Given the description of an element on the screen output the (x, y) to click on. 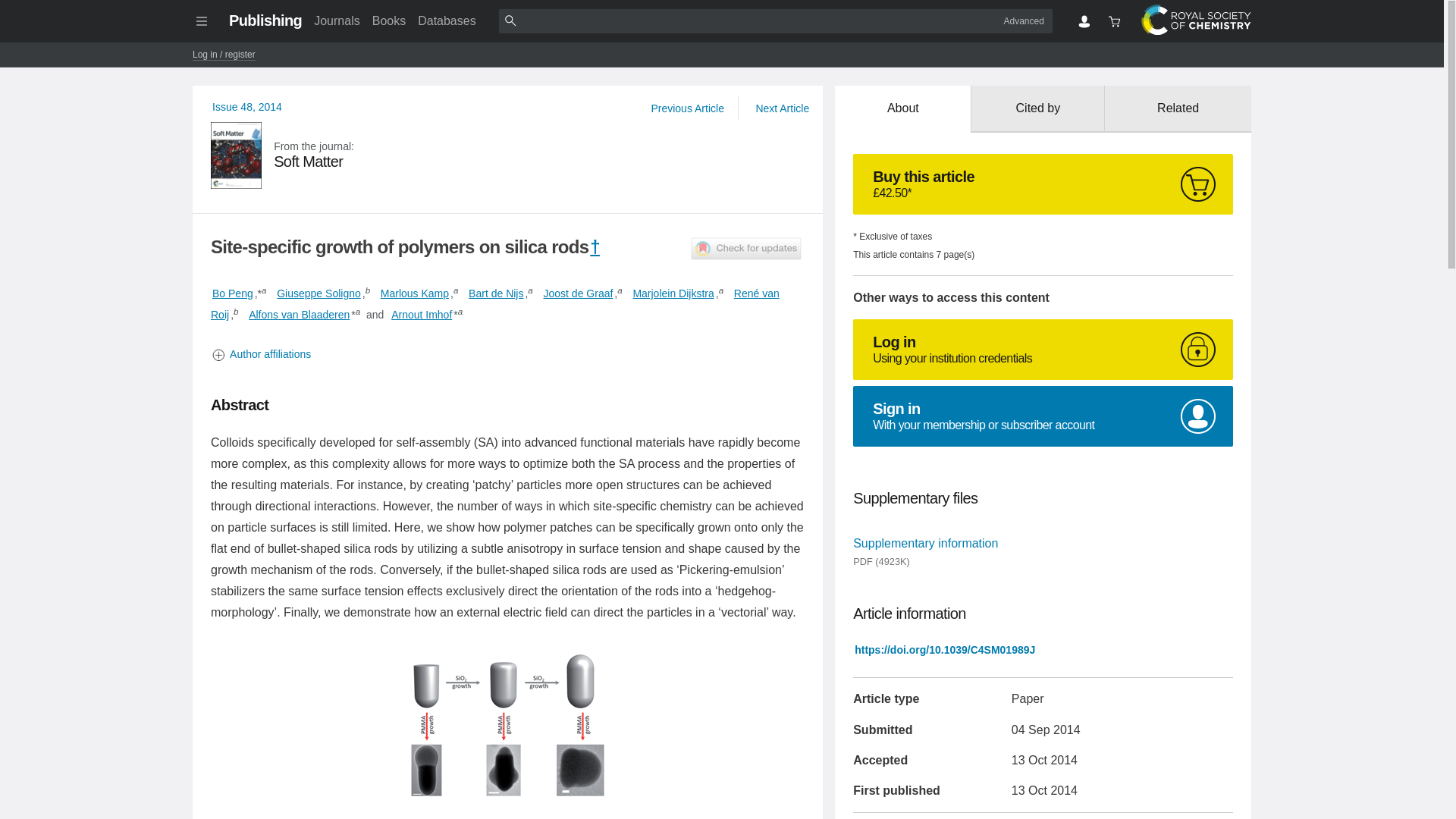
Publishing home page (264, 20)
Previous Article (687, 107)
Author affiliations (508, 354)
Bo Peng (232, 293)
Arnout Imhof (508, 155)
Joost de Graaf (421, 314)
Books (577, 293)
Journals (389, 20)
Next Article (336, 20)
Publishing (781, 107)
Giuseppe Soligno (264, 20)
Bart de Nijs (318, 293)
Marlous Kamp (495, 293)
Issue 48, 2014 (413, 293)
